Given the description of an element on the screen output the (x, y) to click on. 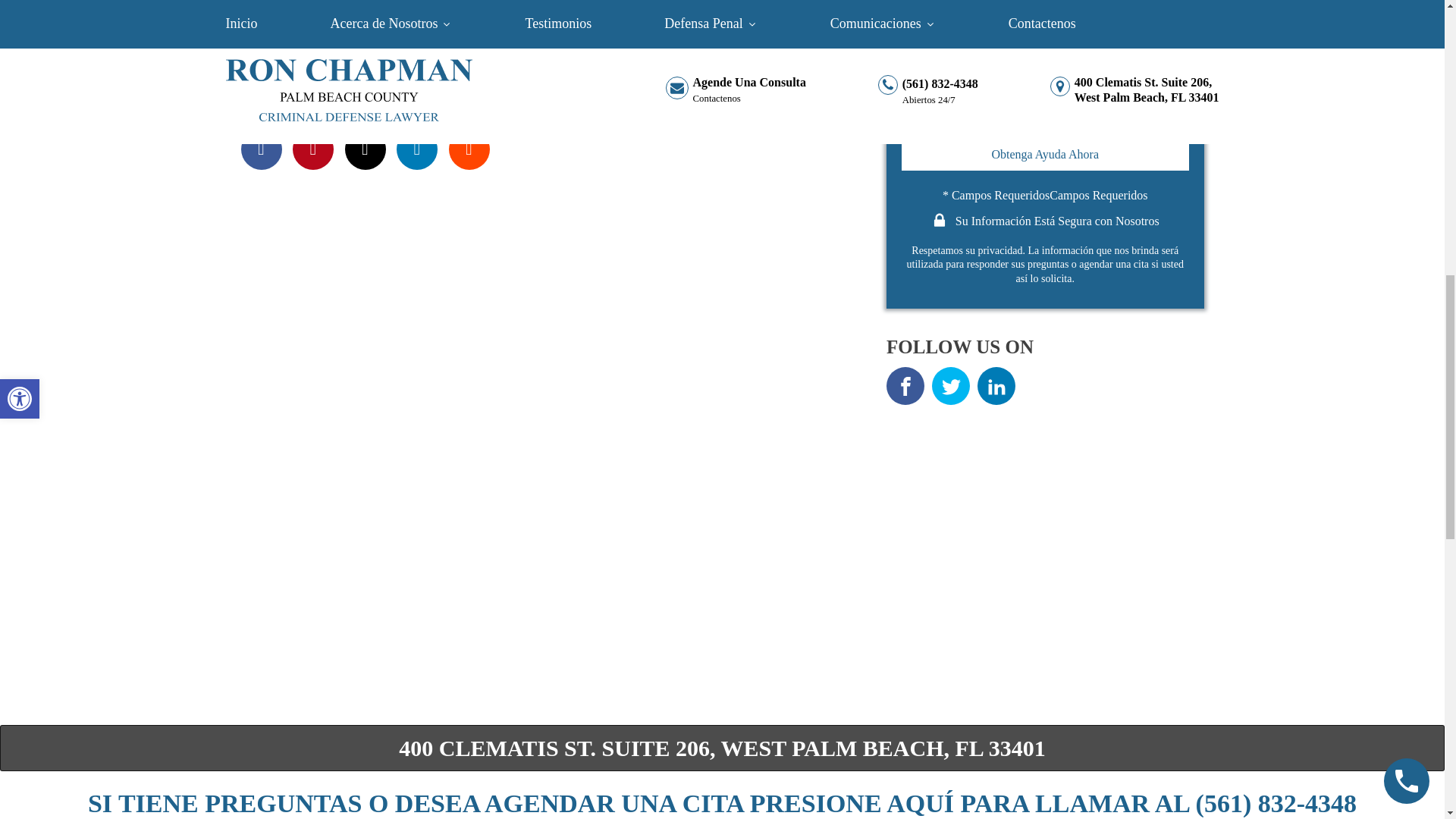
Share on Facebook (261, 148)
Email (364, 148)
Pin it (312, 148)
Submit to Reddit (468, 148)
Share on LinkedIn (417, 148)
